Given the description of an element on the screen output the (x, y) to click on. 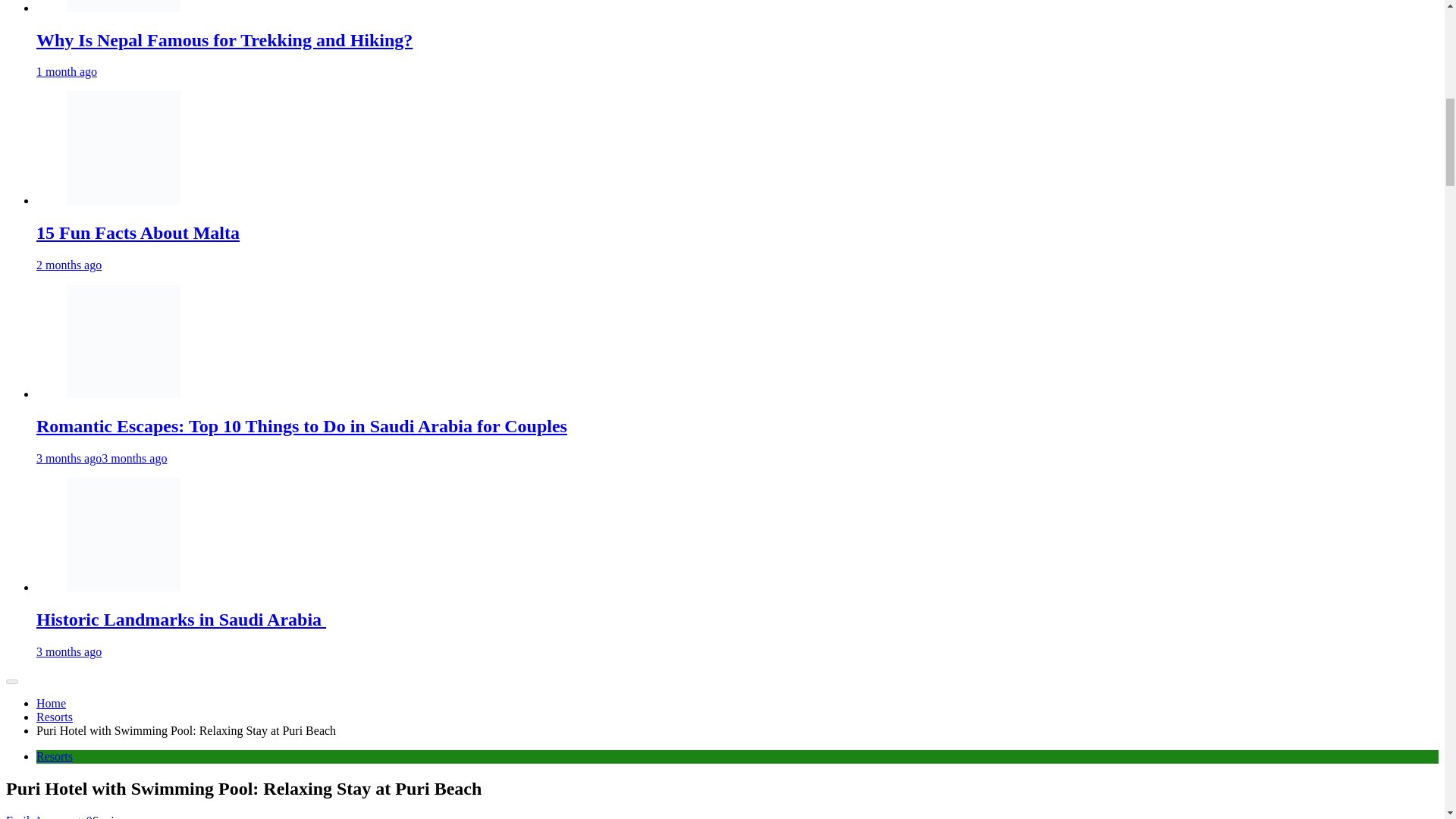
Why Is Nepal Famous for Trekking and Hiking? (224, 39)
3 months ago (68, 651)
15 Fun Facts About Malta (123, 200)
Why Is Nepal Famous for Trekking and Hiking? (123, 6)
2 months ago (68, 264)
3 months ago3 months ago (101, 458)
Why Is Nepal Famous for Trekking and Hiking? (123, 7)
15 Fun Facts About Malta (123, 147)
15 Fun Facts About Malta (138, 232)
